Given the description of an element on the screen output the (x, y) to click on. 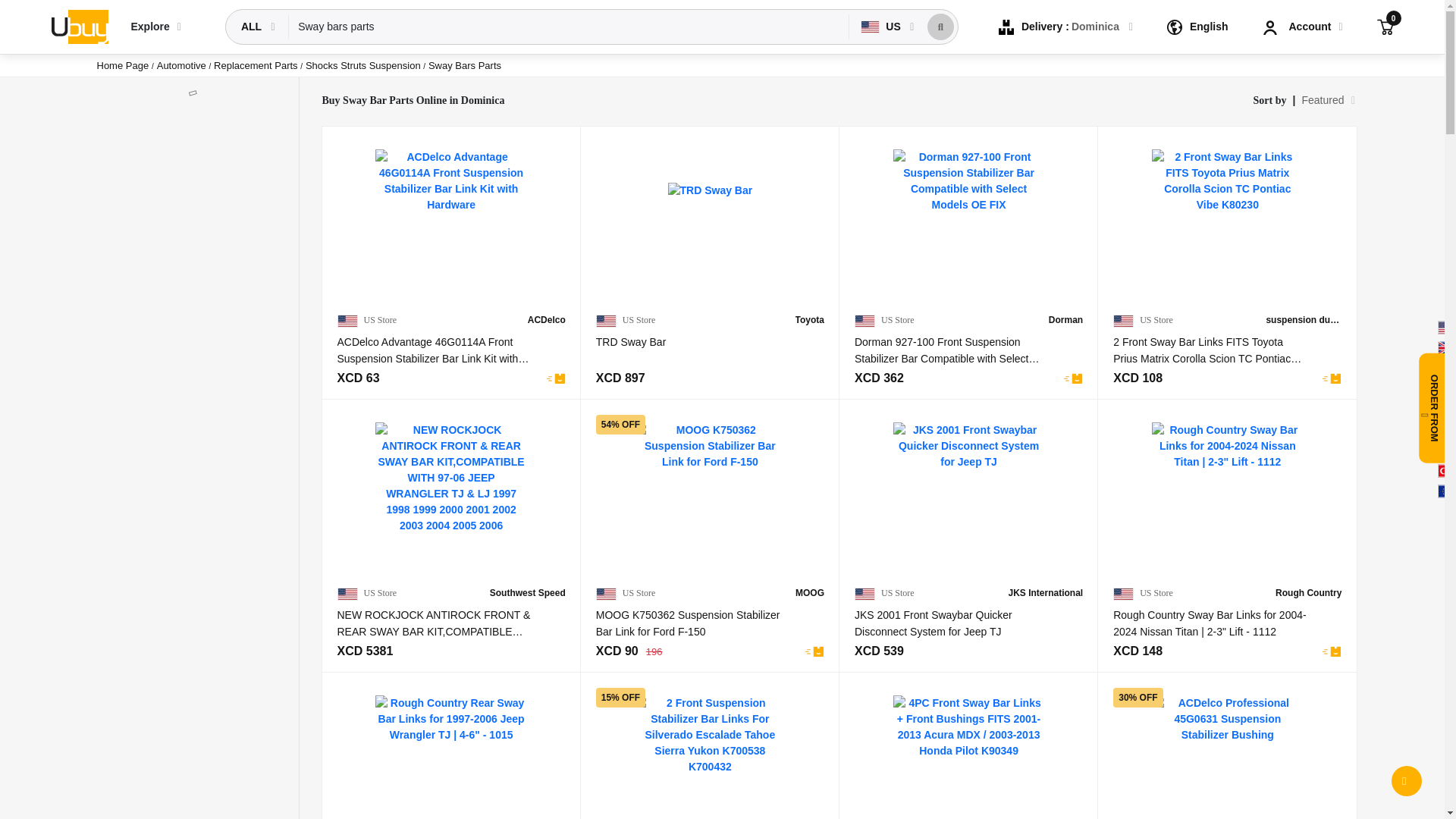
Sway bars parts (568, 26)
ALL (253, 26)
Ubuy (78, 26)
0 (1385, 26)
US (881, 26)
